Given the description of an element on the screen output the (x, y) to click on. 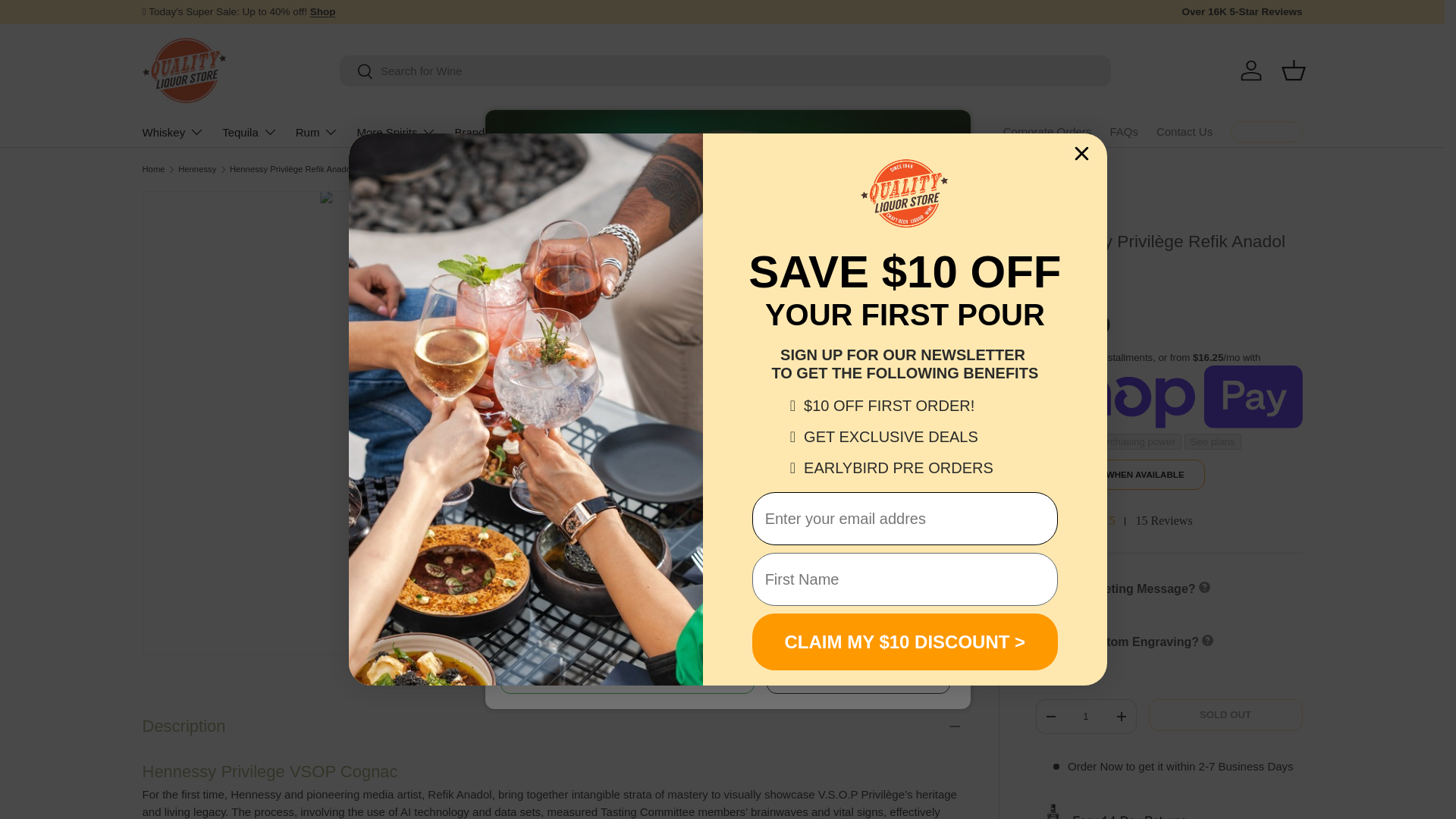
Rum (317, 132)
Basket (1293, 70)
1 (1085, 716)
SKIP TO CONTENT (68, 21)
Over 16K 5-Star Reviews (1240, 11)
More Spirits (395, 132)
Whiskey (173, 132)
Shop (323, 11)
Tequila (250, 132)
SALE (323, 11)
Log in (1251, 70)
Search (1113, 521)
Quality Liquor Store (356, 72)
